Given the description of an element on the screen output the (x, y) to click on. 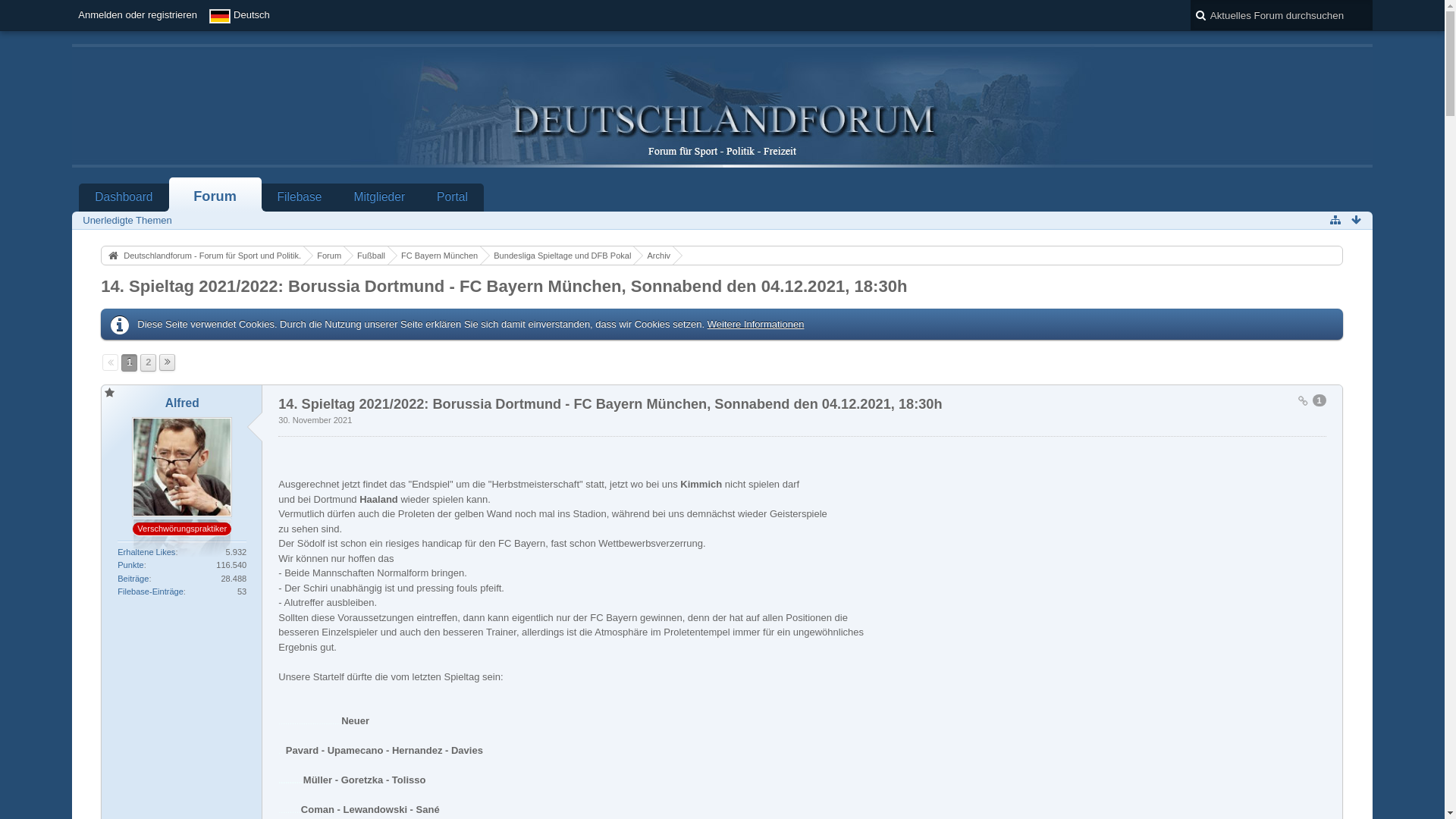
30. November 2021 Element type: text (314, 419)
Forum Element type: text (321, 255)
Forum Element type: text (215, 194)
Archiv Element type: text (651, 255)
Erhaltene Likes Element type: text (146, 551)
Anmelden oder registrieren Element type: text (137, 15)
Unerledigte Themen Element type: text (127, 219)
2 Element type: text (148, 362)
Filebase Element type: text (299, 196)
Dashboard Element type: text (123, 196)
Punkte Element type: text (130, 564)
Weitere Informationen Element type: text (755, 323)
Mitglieder Element type: text (379, 196)
1 Element type: text (1317, 401)
Alfred Element type: text (182, 402)
Portal Element type: text (451, 196)
Bundesliga Spieltage und DFB Pokal Element type: text (554, 255)
